Given the description of an element on the screen output the (x, y) to click on. 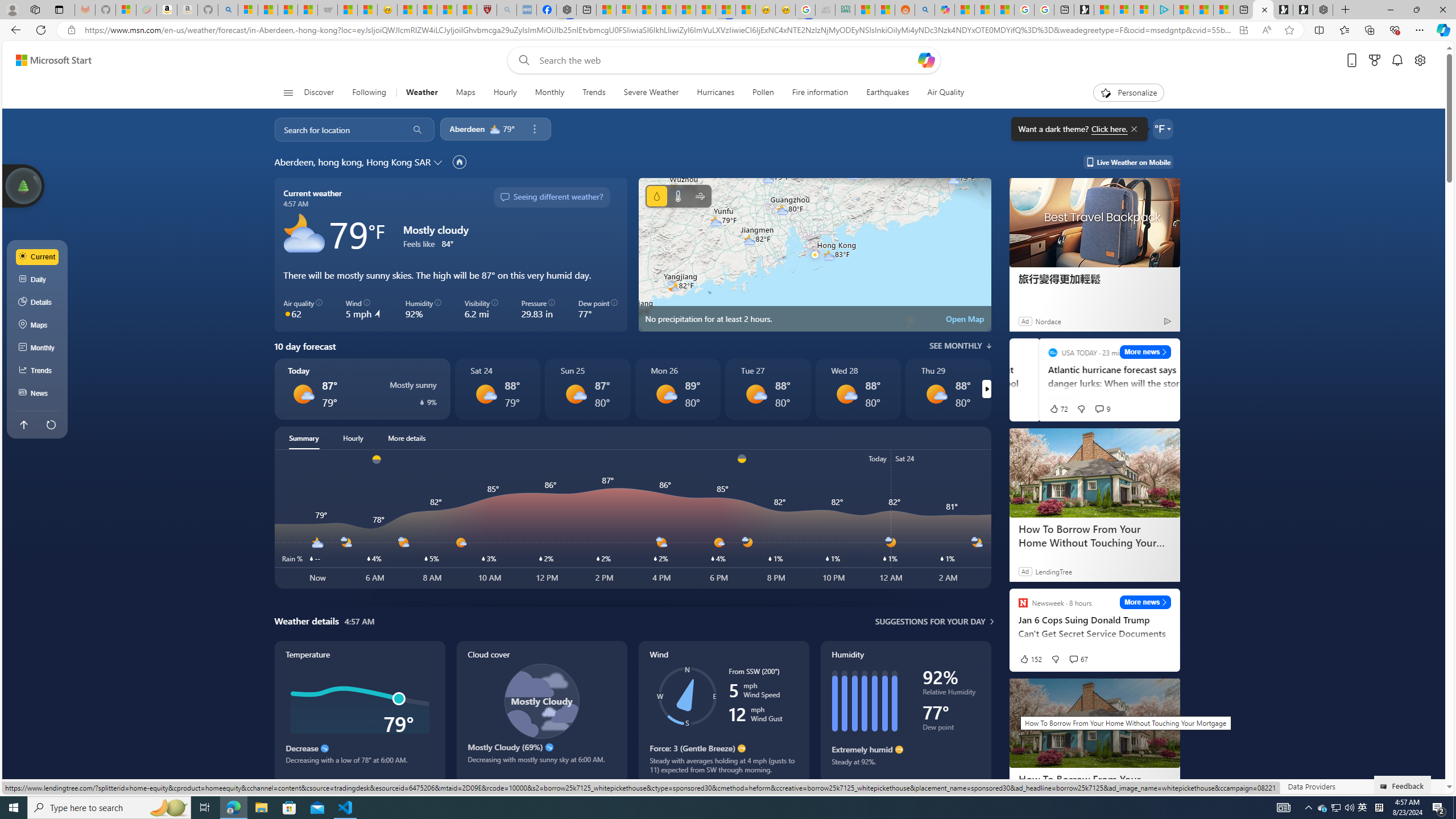
Cloud cover (541, 711)
Refresh this page (50, 424)
How To Borrow From Your Home Without Touching Your Mortgage (1093, 785)
